Given the description of an element on the screen output the (x, y) to click on. 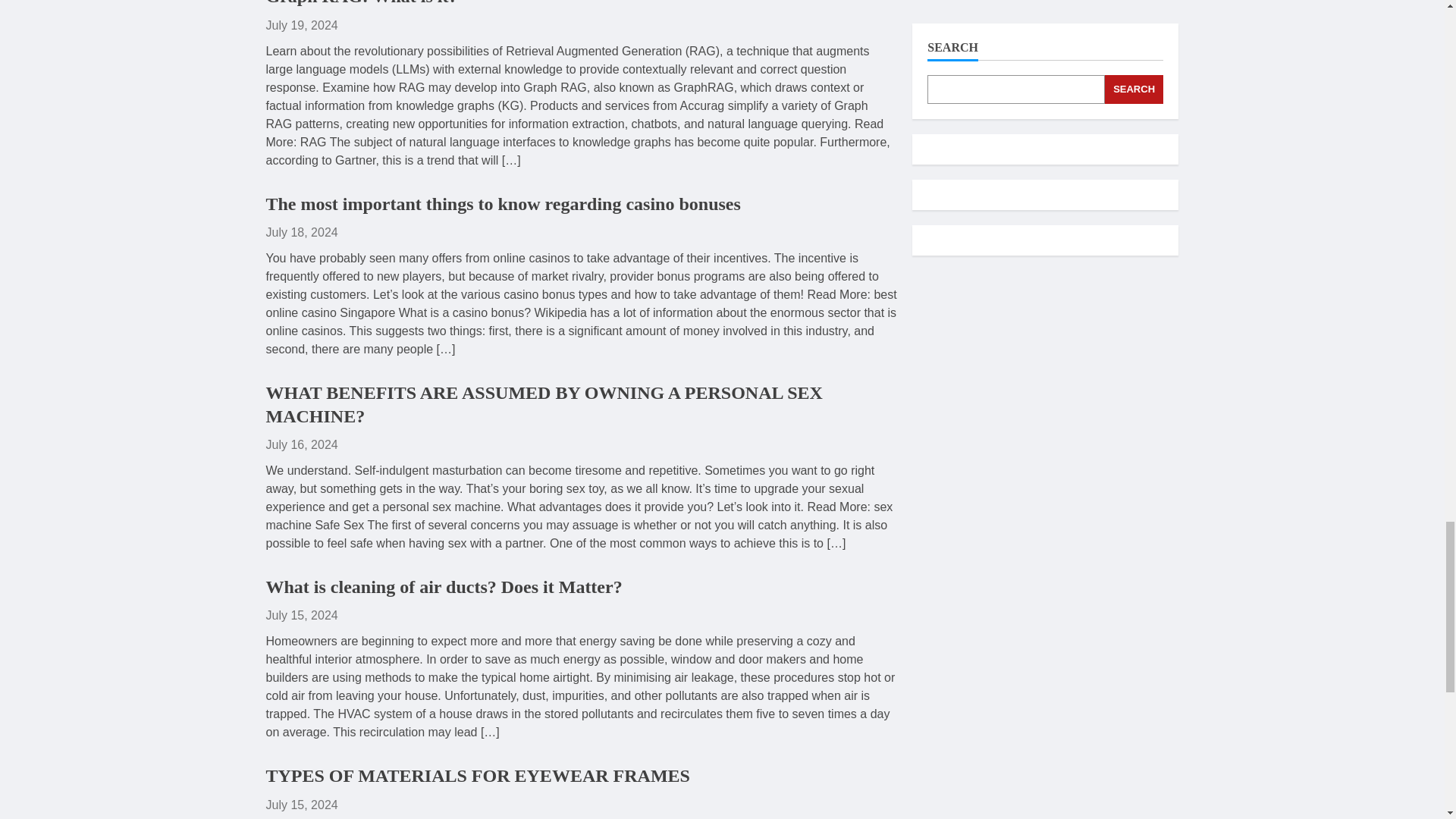
What is cleaning of air ducts? Does it Matter? (442, 587)
Graph RAG: What is it? (360, 2)
The most important things to know regarding casino bonuses (501, 203)
TYPES OF MATERIALS FOR EYEWEAR FRAMES (476, 775)
WHAT BENEFITS ARE ASSUMED BY OWNING A PERSONAL SEX MACHINE? (543, 404)
